Given the description of an element on the screen output the (x, y) to click on. 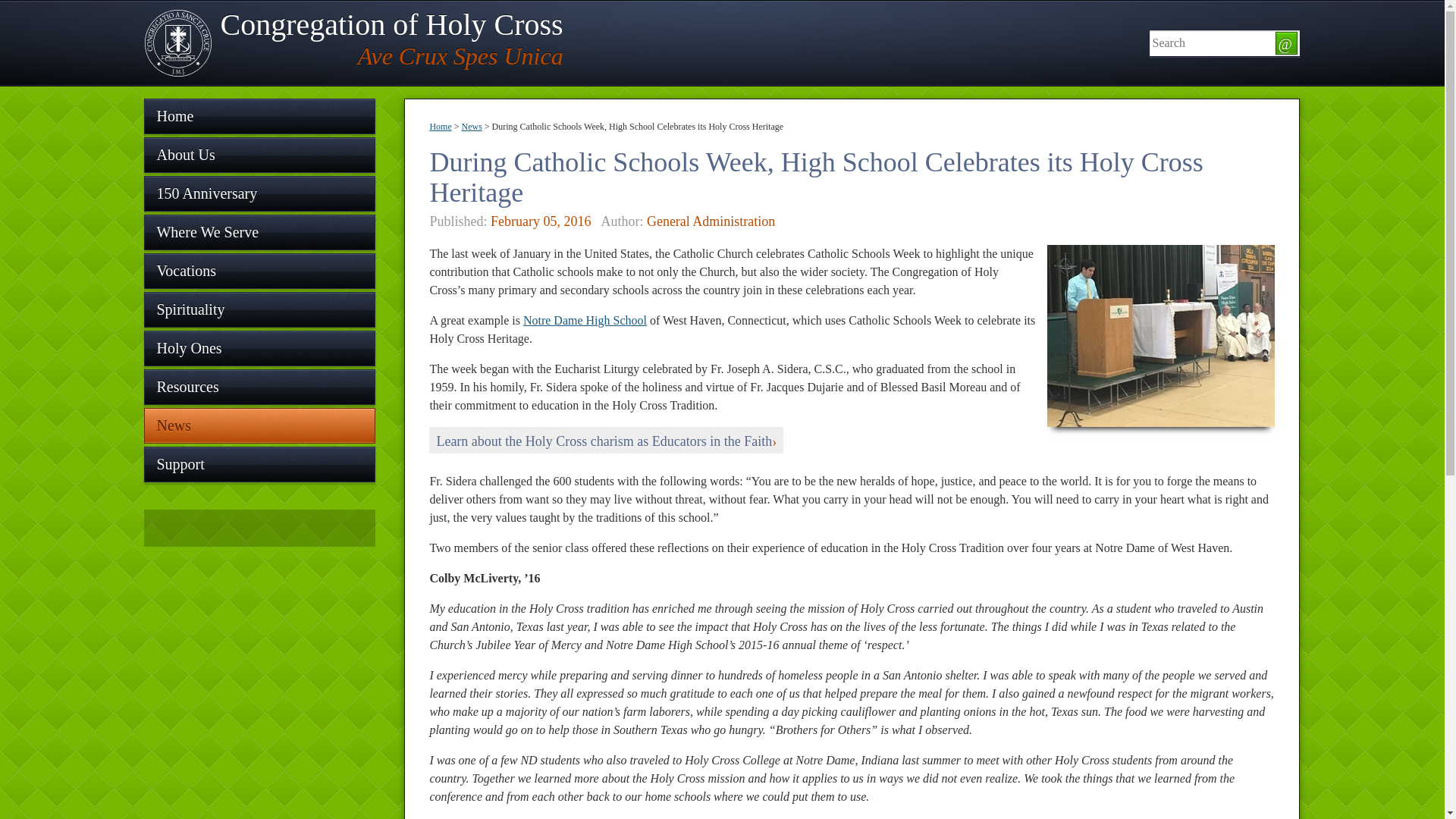
150 Anniversary (259, 193)
Facebook (169, 527)
News (259, 425)
Support (259, 464)
About Us (259, 154)
Home (353, 42)
LinkedIn (440, 126)
News (260, 527)
Holy Ones (471, 126)
Notre Dame High School (259, 348)
Where We Serve (584, 319)
Instagram (259, 232)
Learn about the Holy Cross charism as Educators in the Faith (230, 527)
Spirituality (606, 439)
